Given the description of an element on the screen output the (x, y) to click on. 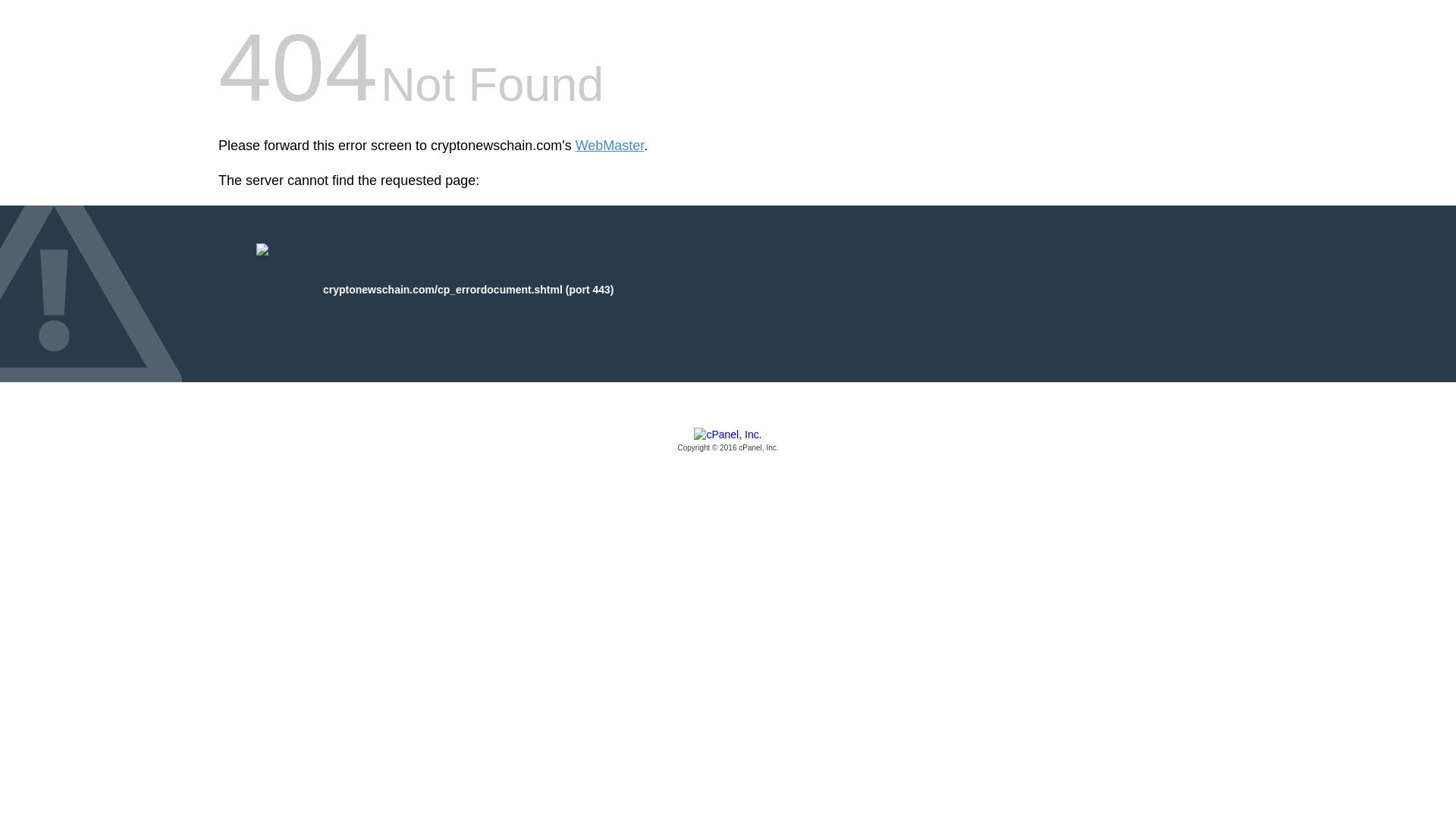
WebMaster (610, 145)
cPanel, Inc. (727, 440)
